Given the description of an element on the screen output the (x, y) to click on. 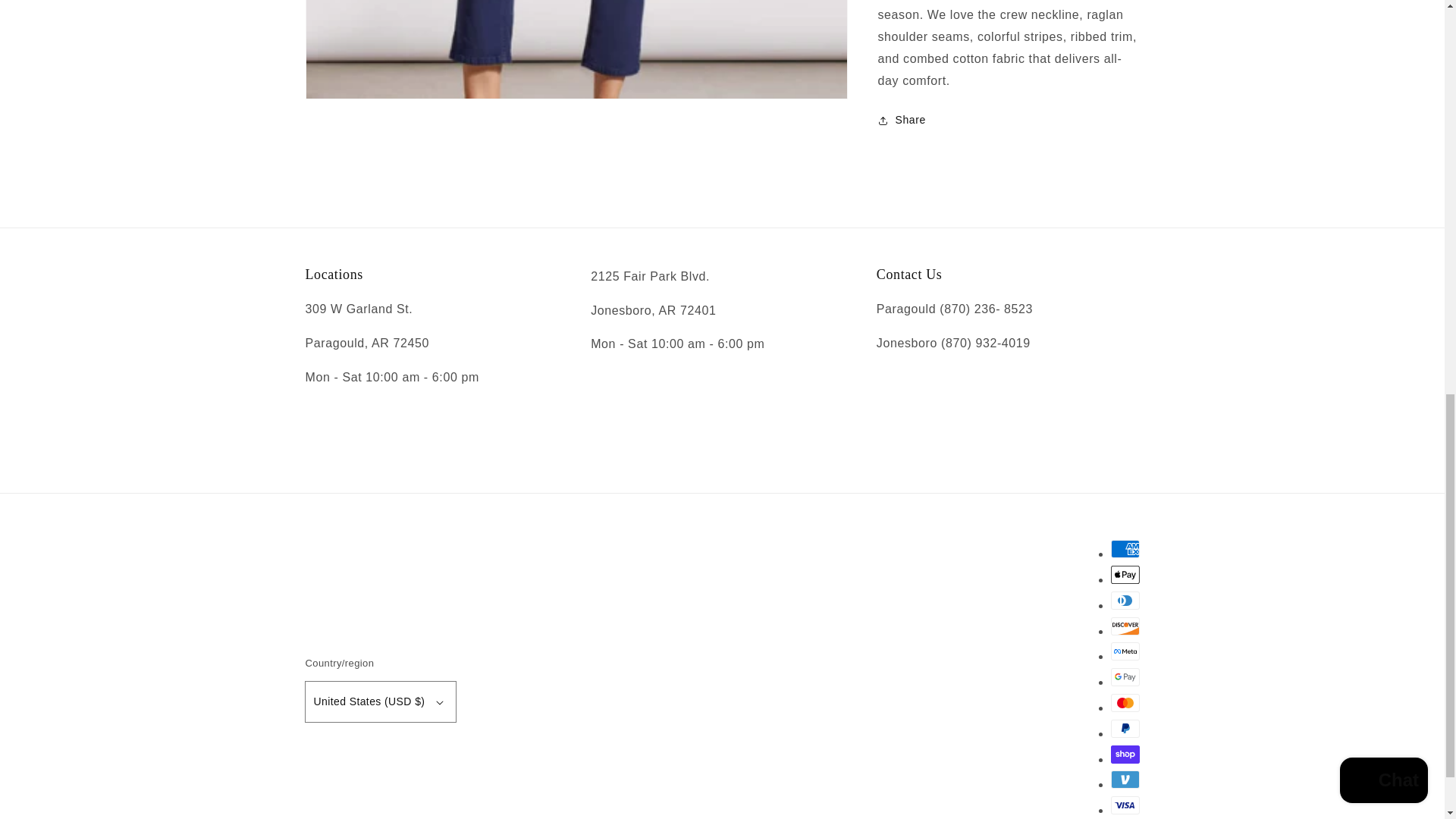
Mastercard (1123, 702)
Diners Club (1123, 600)
Apple Pay (1123, 574)
Shop Pay (1123, 754)
American Express (1123, 548)
PayPal (1123, 728)
Google Pay (1123, 677)
Meta Pay (1123, 651)
Discover (1123, 626)
